Given the description of an element on the screen output the (x, y) to click on. 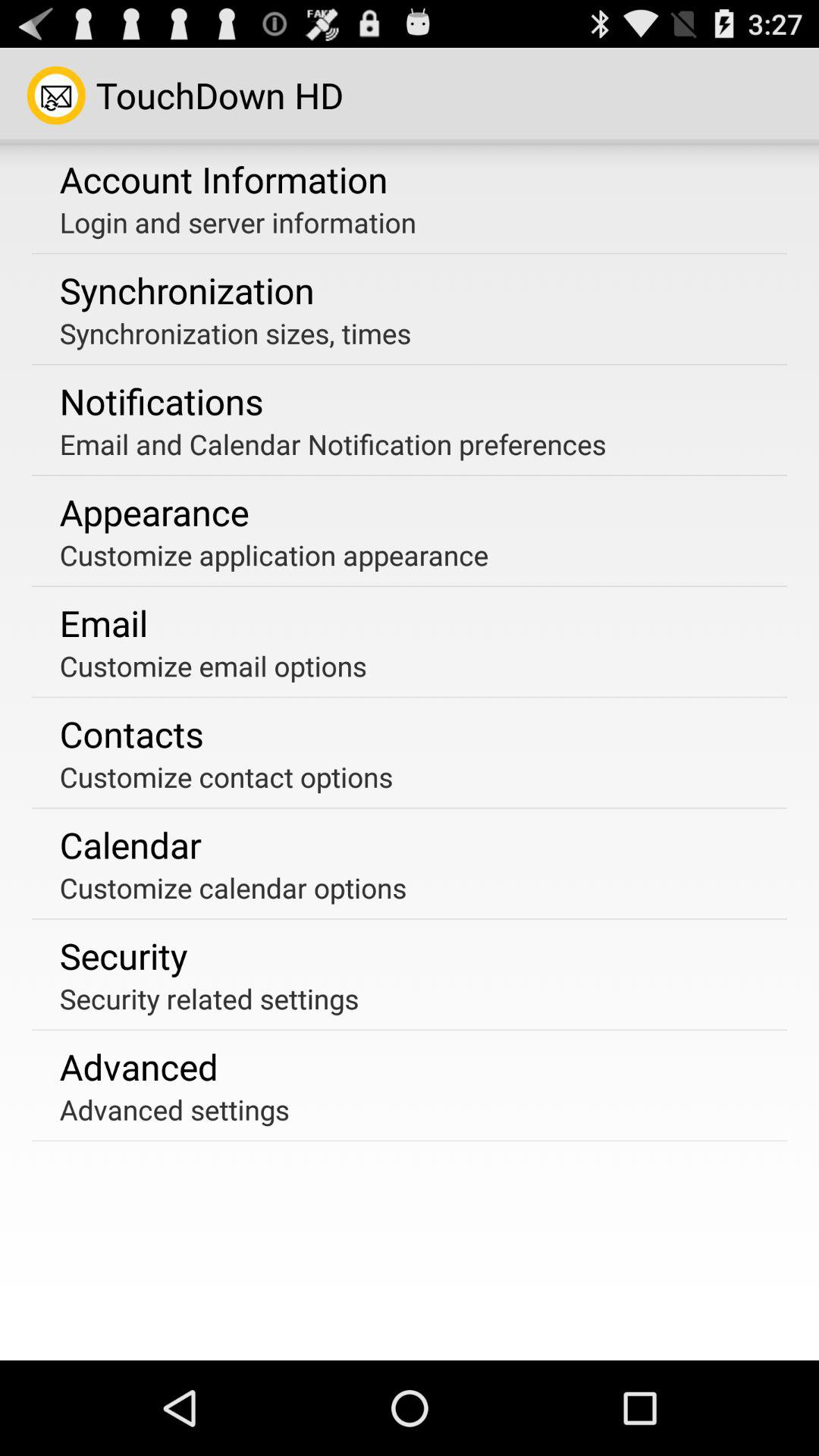
turn off advanced settings app (174, 1109)
